Given the description of an element on the screen output the (x, y) to click on. 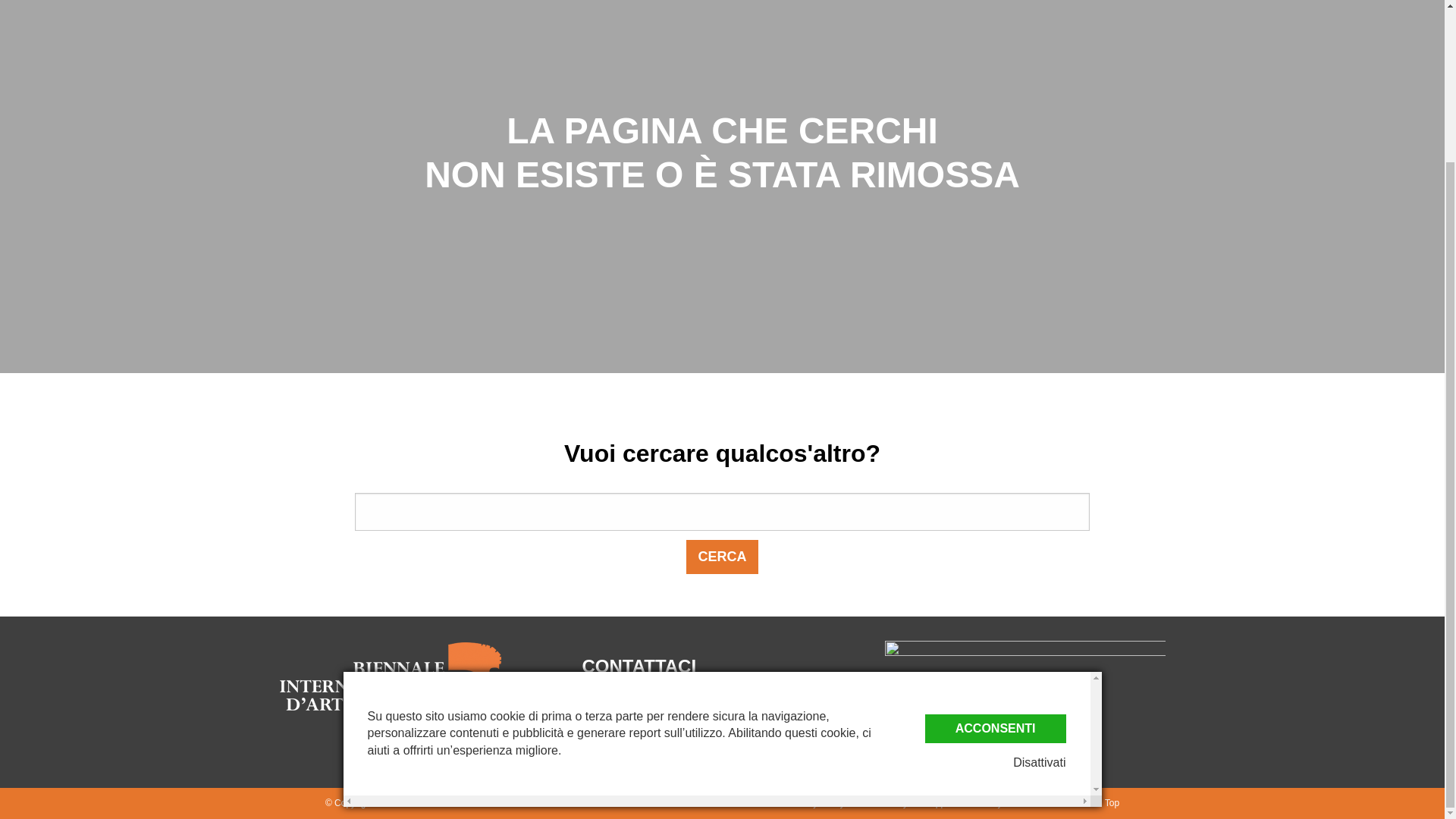
Privacy Policy (815, 802)
Privacy Policy (815, 802)
Cerca (721, 556)
Cookie Policy (879, 802)
Cerca (721, 556)
Cookie Policy (879, 802)
